Given the description of an element on the screen output the (x, y) to click on. 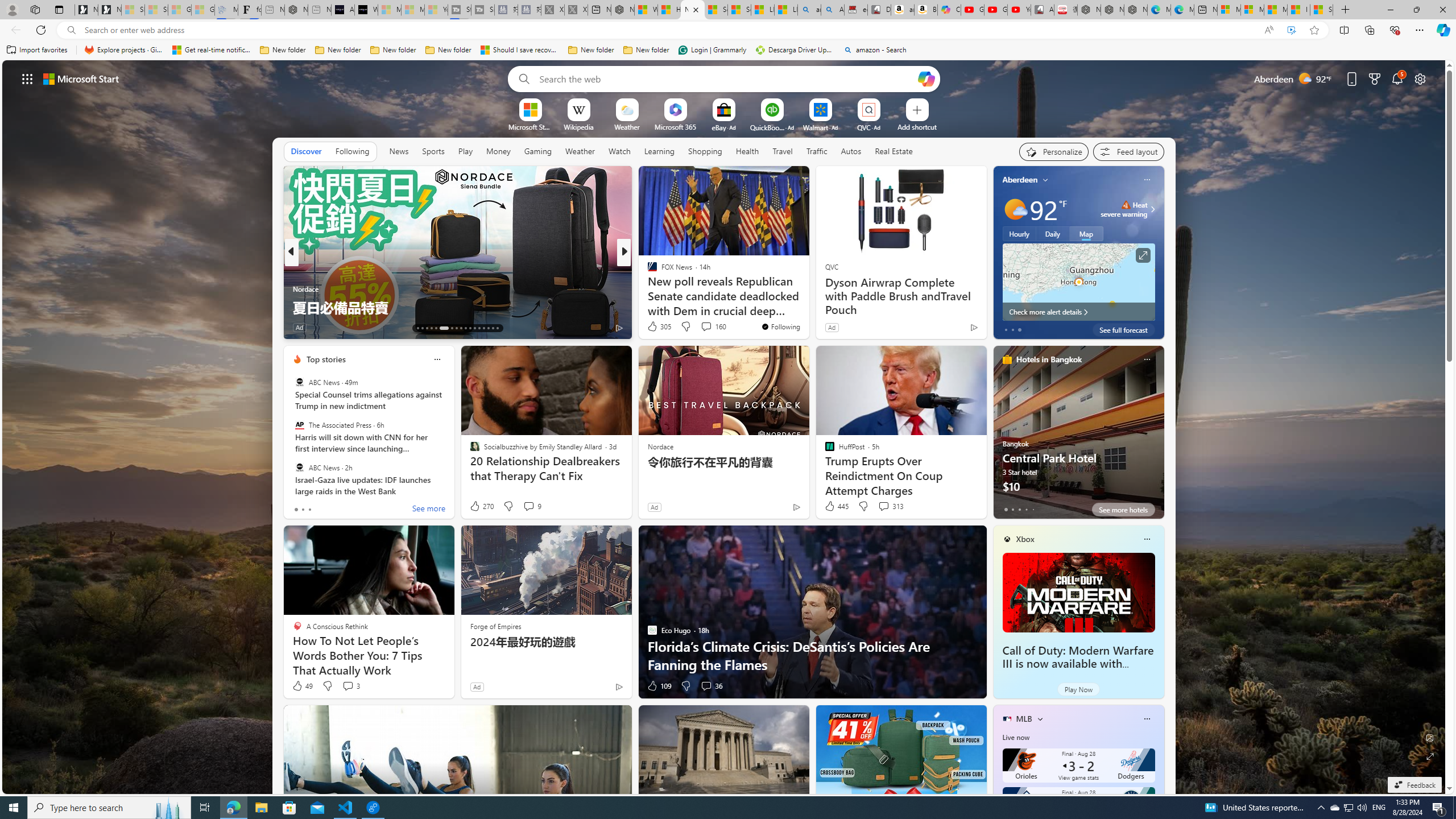
Money (497, 151)
YouTube Kids - An App Created for Kids to Explore Content (1019, 9)
View comments 36 Comment (710, 685)
Reuters (647, 270)
More options (1146, 718)
News (398, 151)
next (1158, 252)
AutomationID: tab-43 (497, 328)
Play (465, 151)
View comments 9 Comment (532, 505)
AutomationID: tab-18 (443, 328)
New tab - Sleeping (319, 9)
Real Estate (893, 151)
View comments 6 Comment (703, 327)
Xbox (1025, 538)
